Given the description of an element on the screen output the (x, y) to click on. 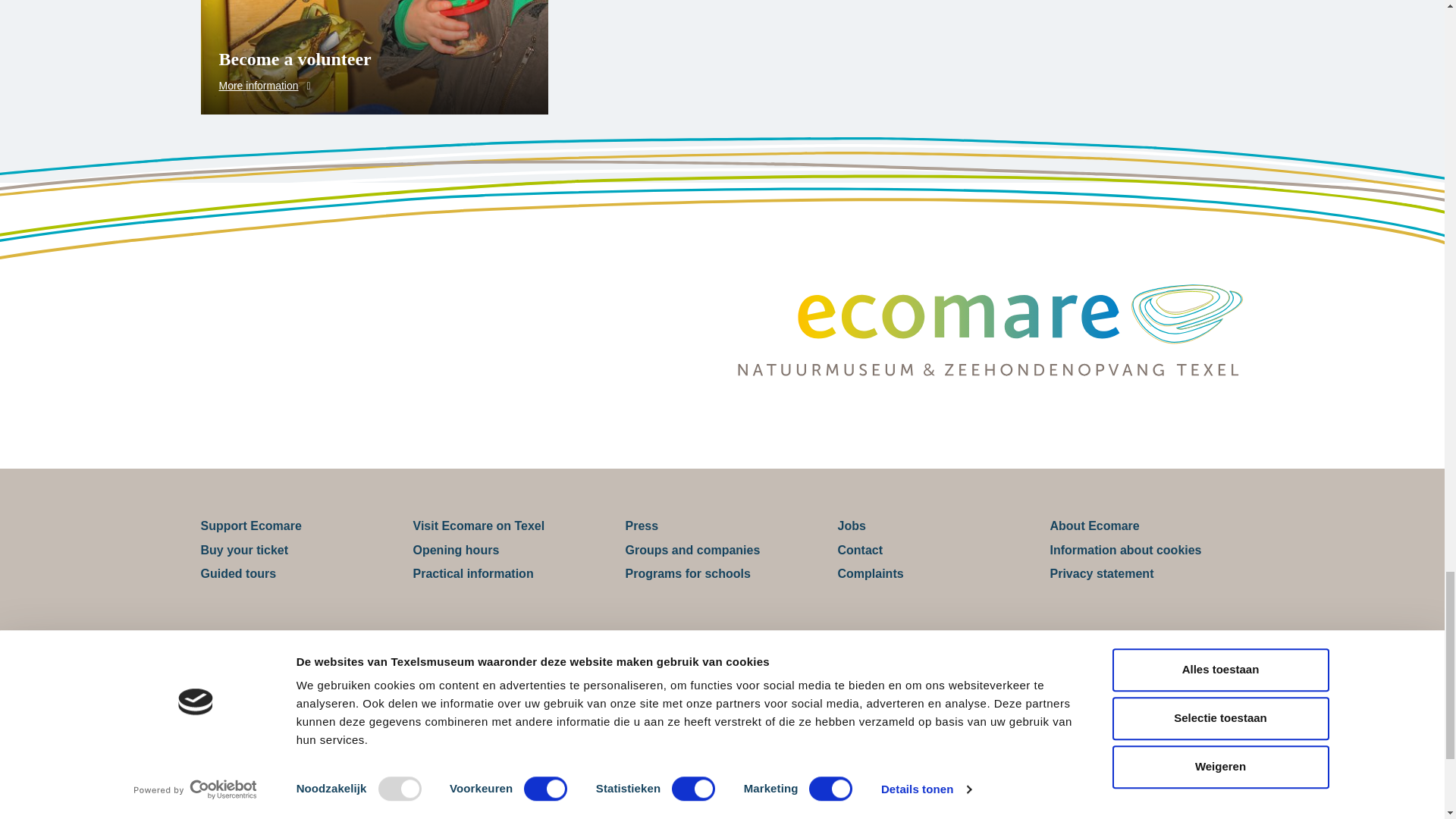
TGK (802, 691)
ANBI (480, 691)
Share this page: Facebook (687, 814)
CBF (641, 691)
Waddenzee Erfgoed (964, 691)
